Given the description of an element on the screen output the (x, y) to click on. 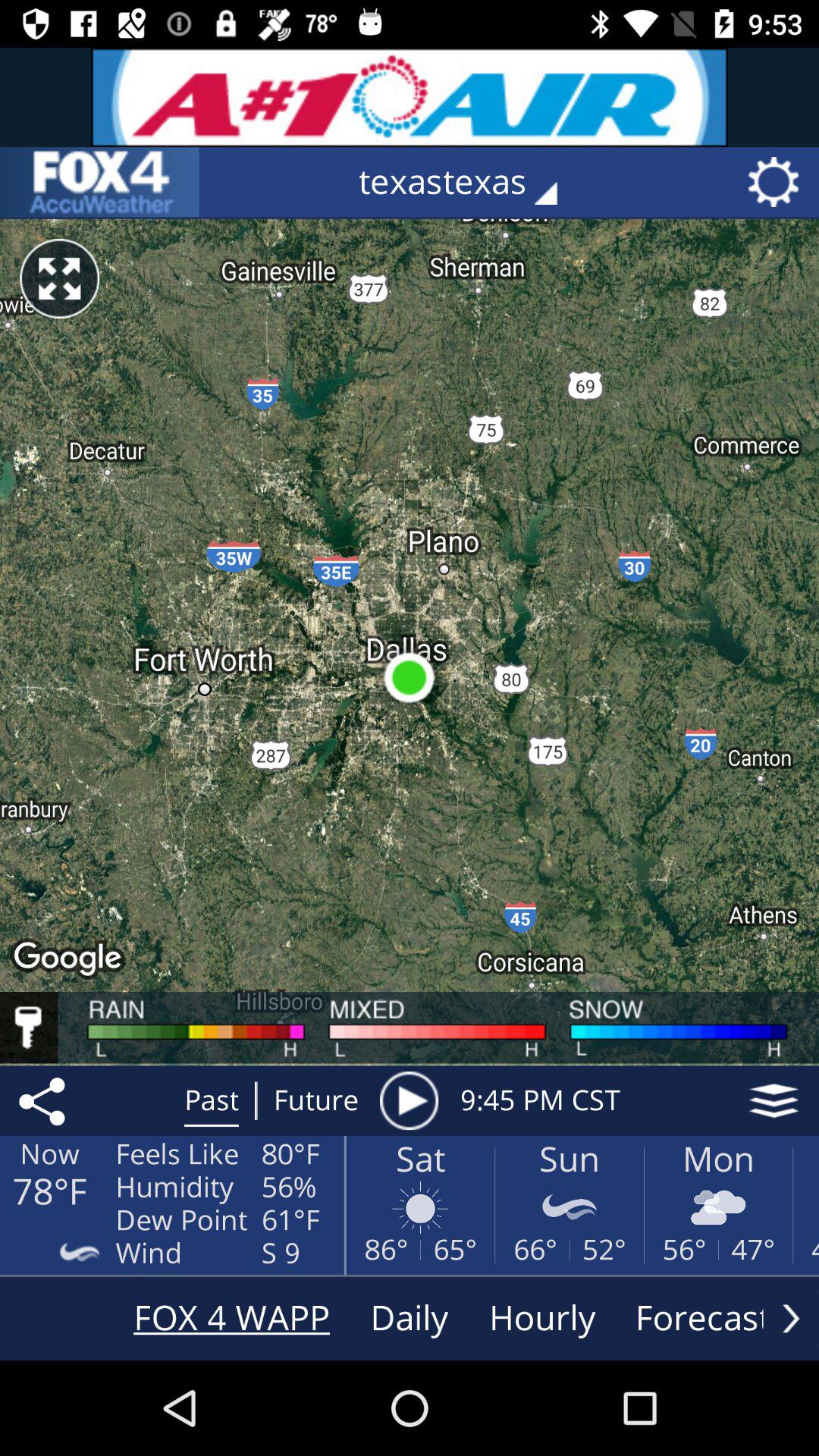
turn off the icon next to 9 45 pm item (774, 1100)
